Given the description of an element on the screen output the (x, y) to click on. 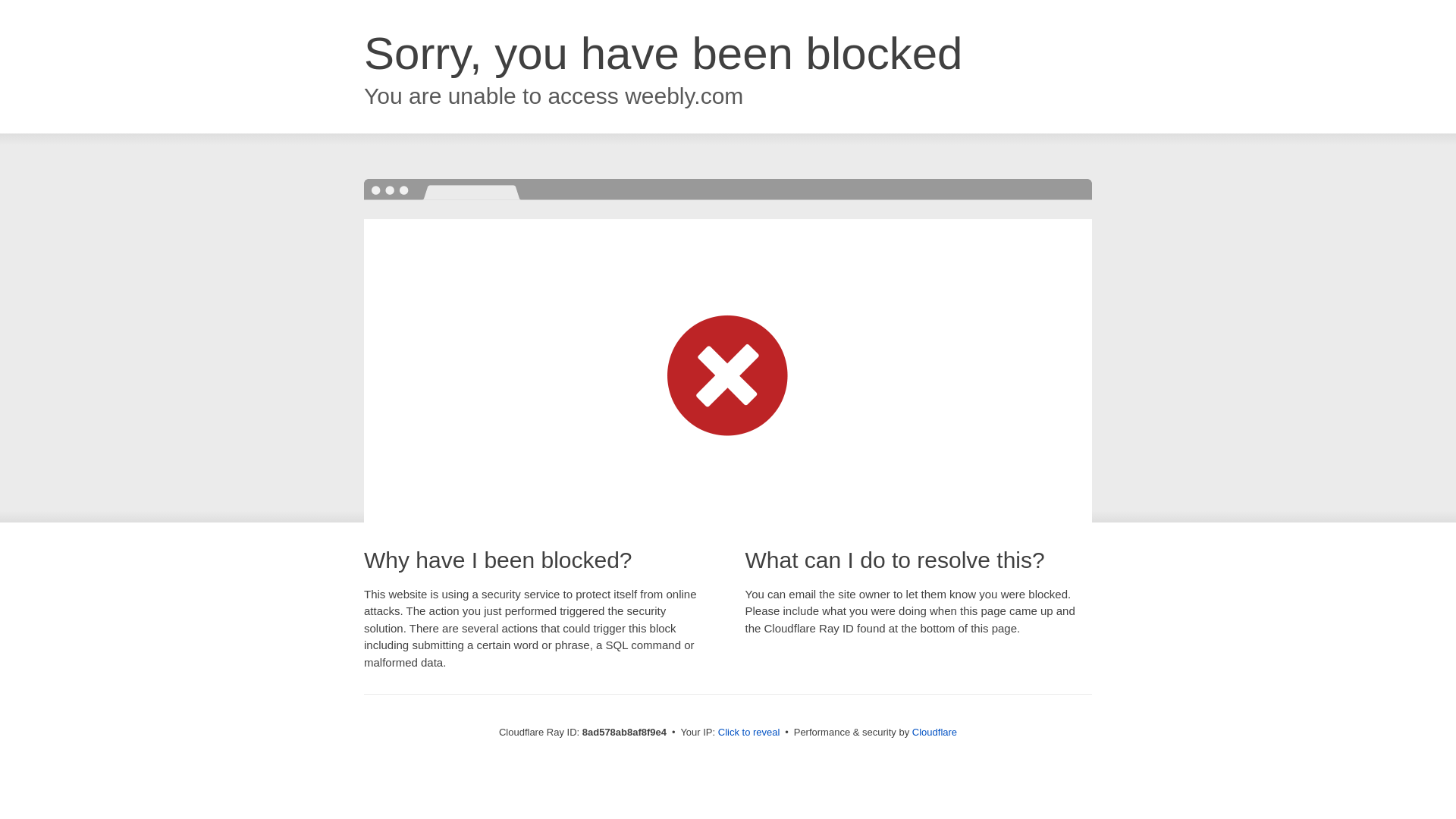
Click to reveal (748, 732)
Cloudflare (934, 731)
